Given the description of an element on the screen output the (x, y) to click on. 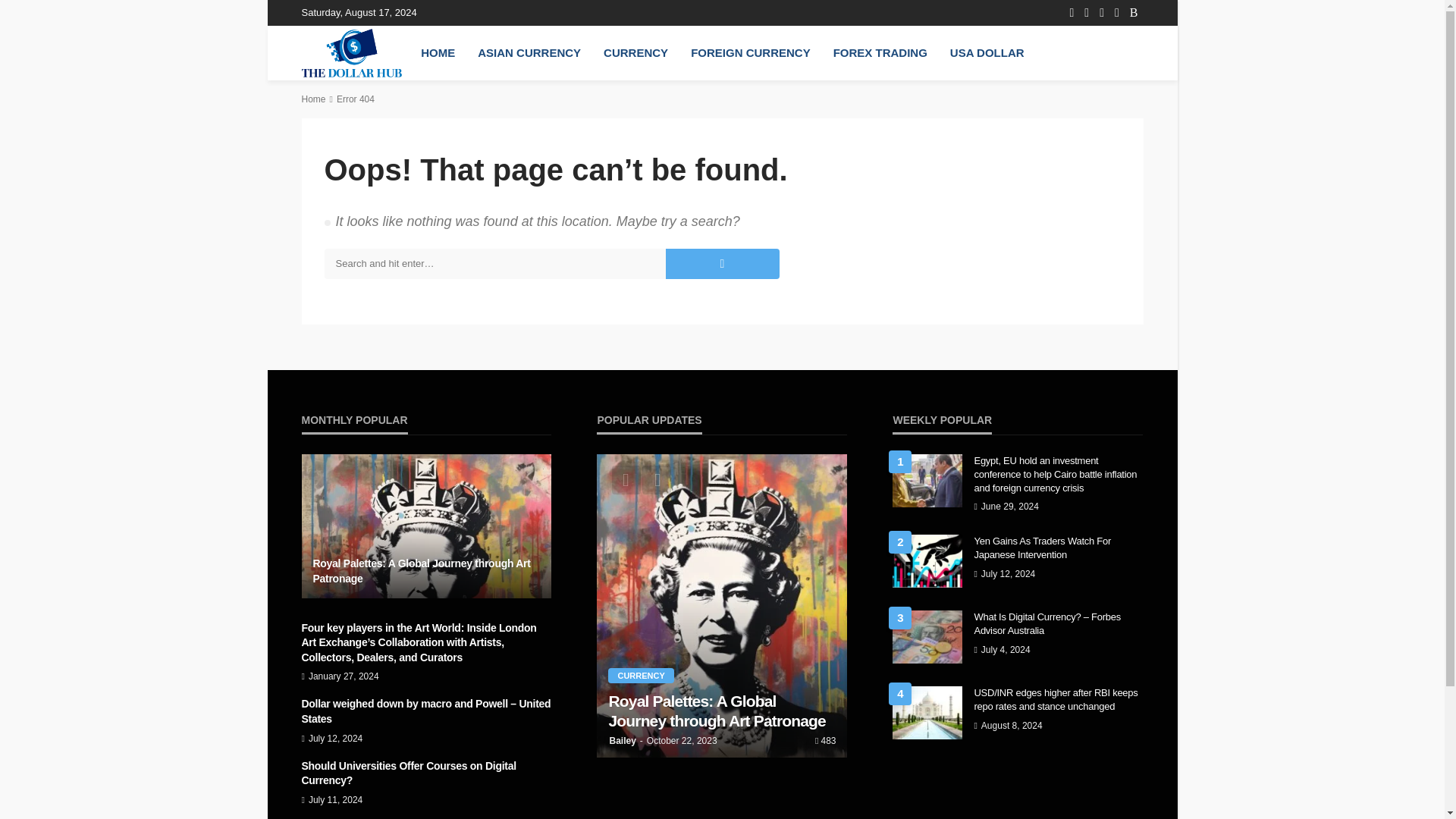
Royal Palettes: A Global Journey through Art Patronage (426, 571)
Should Universities Offer Courses on Digital Currency? (426, 773)
ASIAN CURRENCY (528, 52)
USA DOLLAR (987, 52)
CURRENCY (635, 52)
Royal Palettes: A Global Journey through Art Patronage (721, 711)
The Dollar Hub (352, 52)
Royal Palettes: A Global Journey through Art Patronage (426, 526)
Bailey (621, 740)
FOREX TRADING (880, 52)
